Given the description of an element on the screen output the (x, y) to click on. 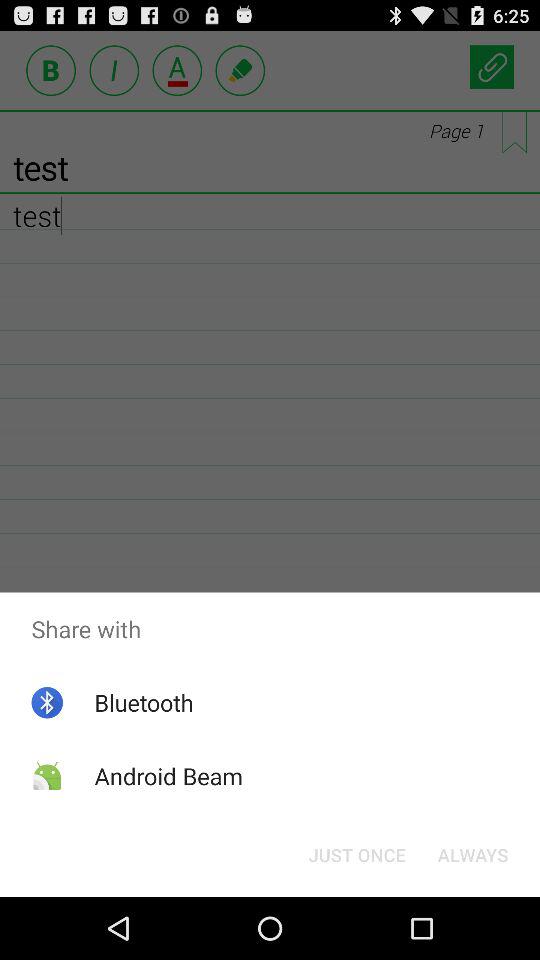
open the button at the bottom right corner (472, 854)
